Given the description of an element on the screen output the (x, y) to click on. 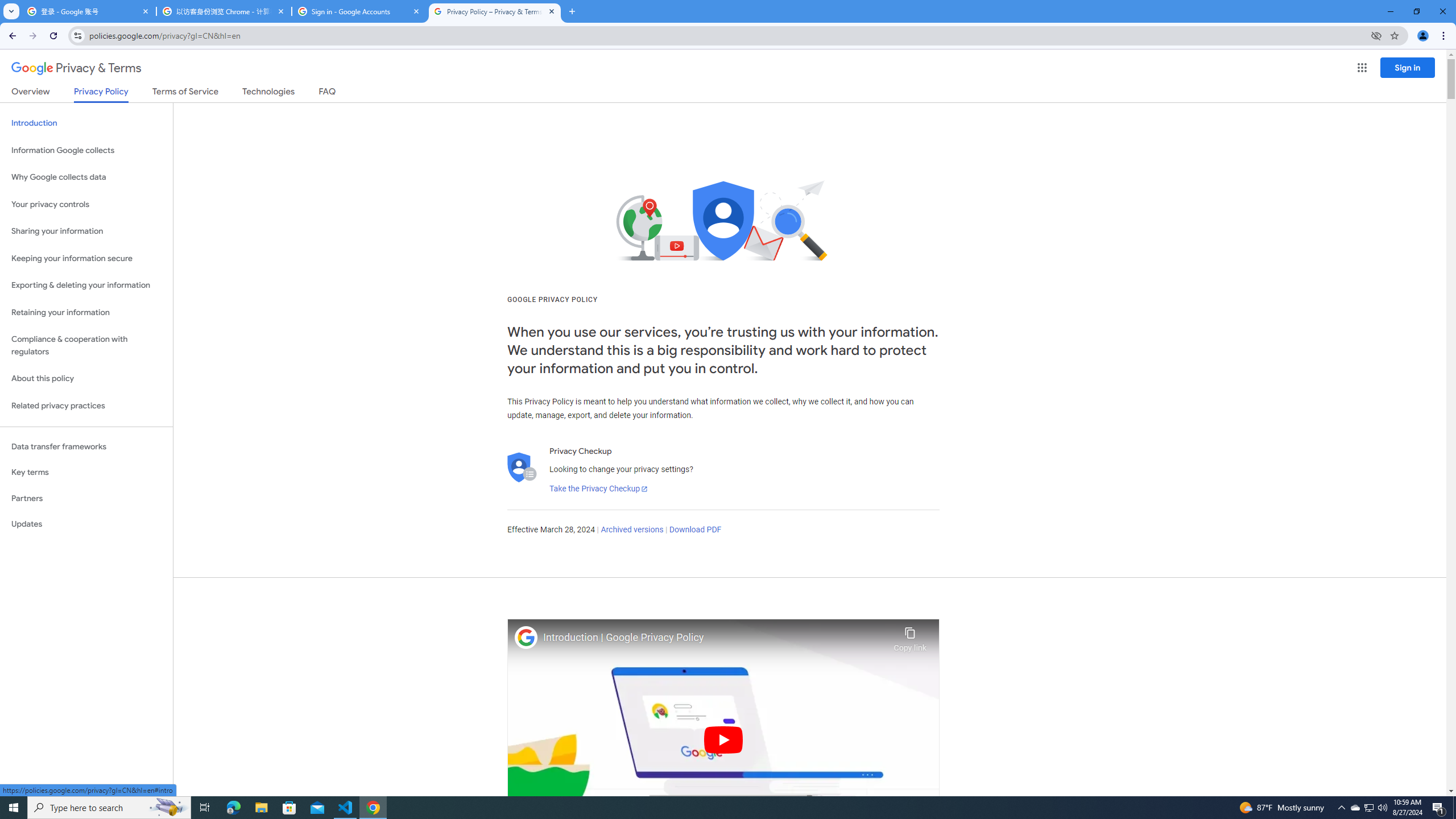
About this policy (86, 379)
Copy link (909, 636)
Overview (30, 93)
FAQ (327, 93)
Your privacy controls (86, 204)
Partners (86, 497)
Compliance & cooperation with regulators (86, 345)
Keeping your information secure (86, 258)
Download PDF (695, 529)
